Given the description of an element on the screen output the (x, y) to click on. 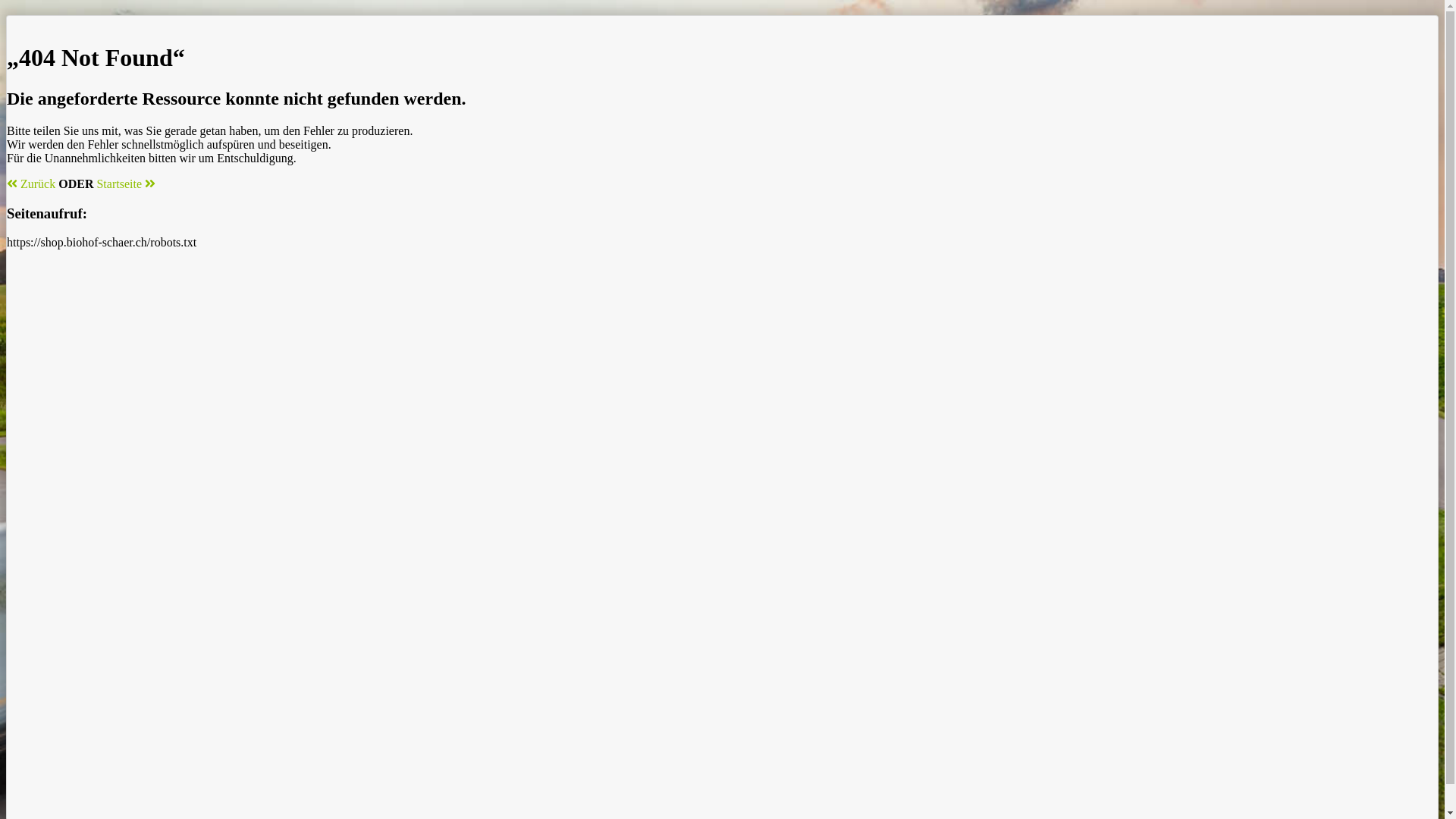
Startseite Element type: text (125, 183)
